Given the description of an element on the screen output the (x, y) to click on. 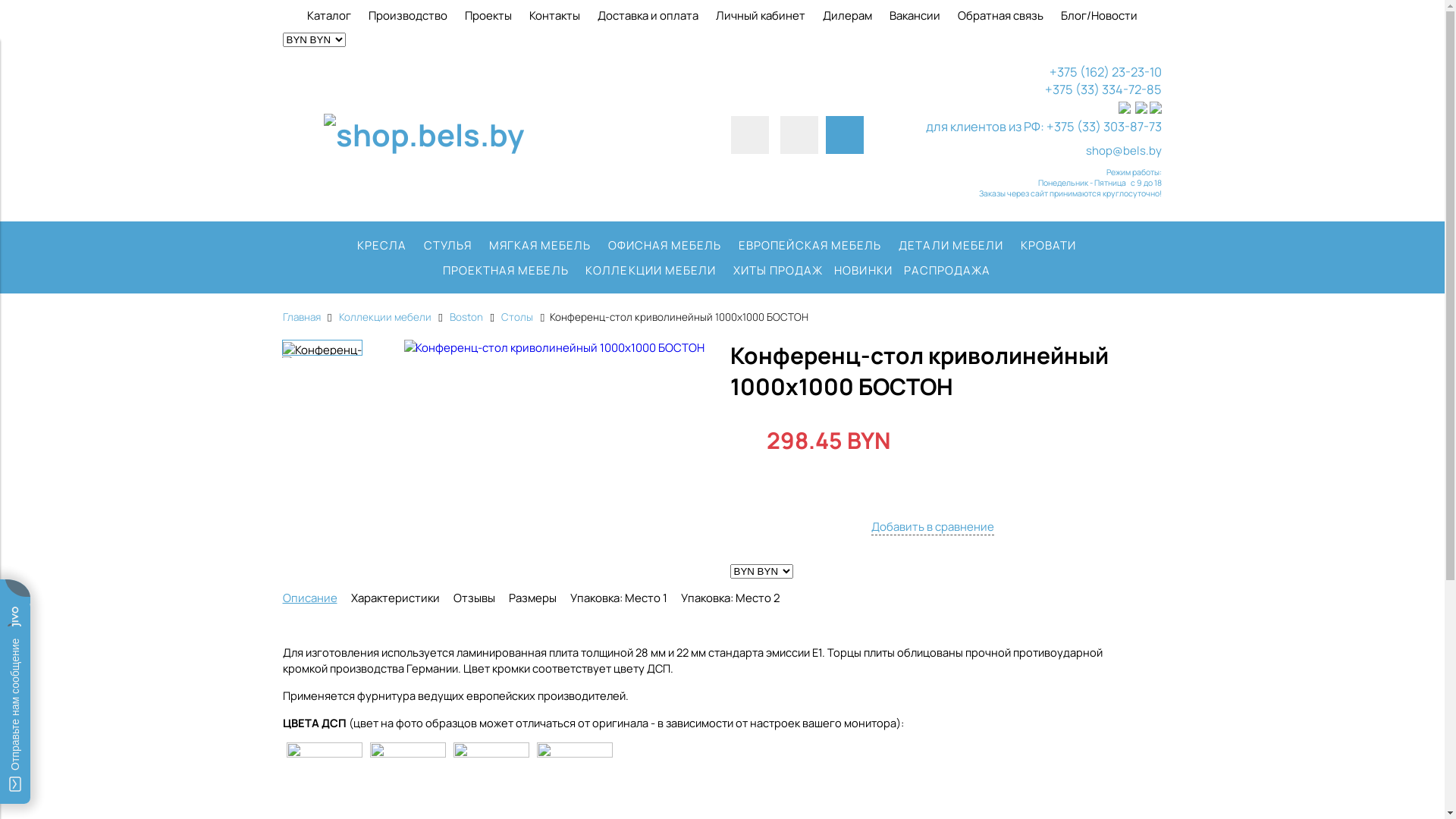
shop.bels.by Element type: hover (423, 134)
Whatsapp Element type: hover (1141, 108)
Viber Element type: hover (1124, 108)
shop.bels.by Element type: hover (423, 142)
+375 (33) 334-72-85 Element type: text (1102, 88)
Telegram Element type: hover (1155, 108)
Boston Element type: text (466, 316)
shop@bels.by Element type: text (1123, 150)
+375 (162) 23-23-10 Element type: text (1105, 71)
